Given the description of an element on the screen output the (x, y) to click on. 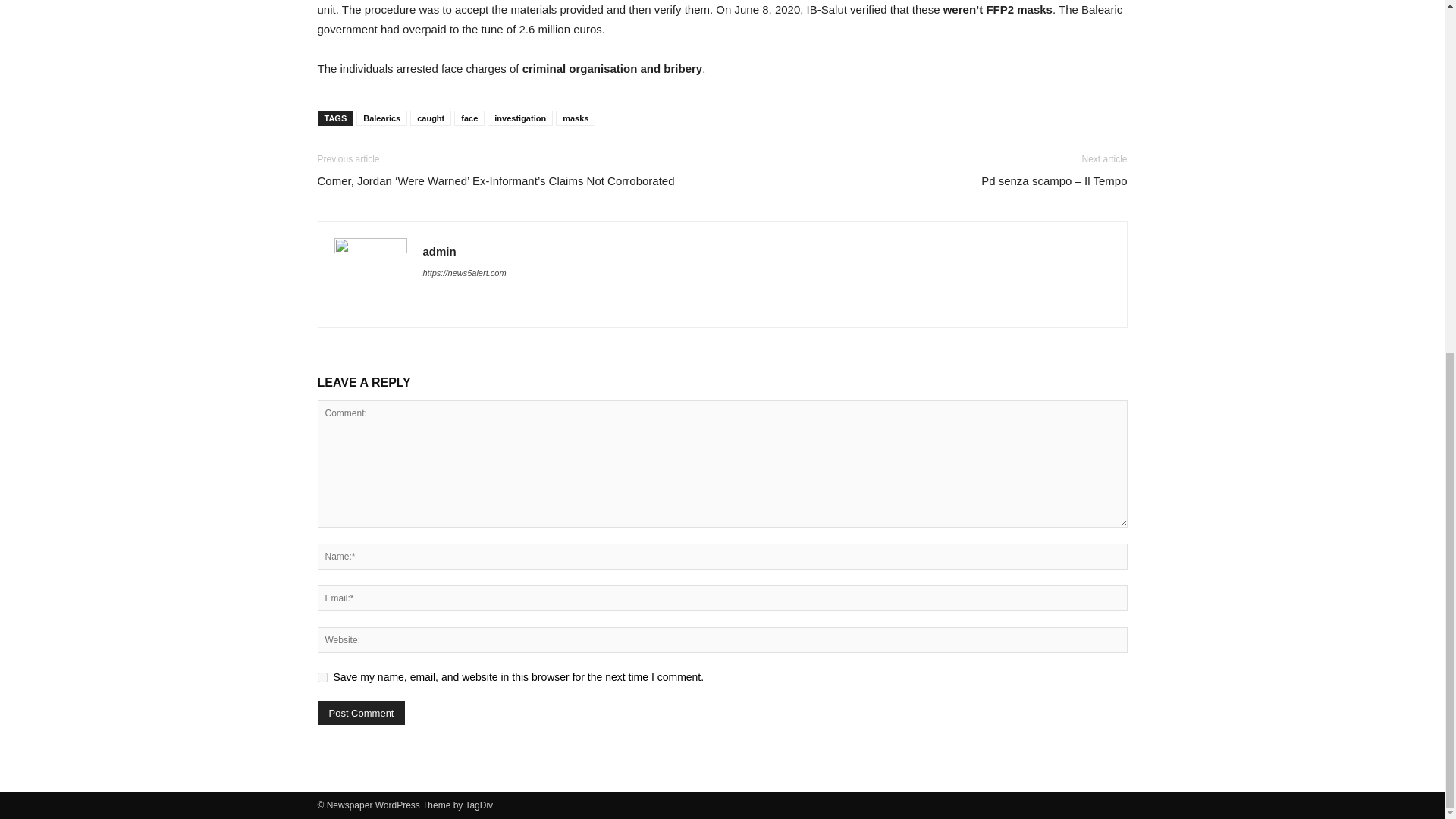
investigation (520, 118)
face (469, 118)
Balearics (381, 118)
Post Comment (360, 712)
yes (321, 677)
caught (430, 118)
Post Comment (360, 712)
masks (575, 118)
admin (440, 250)
